Given the description of an element on the screen output the (x, y) to click on. 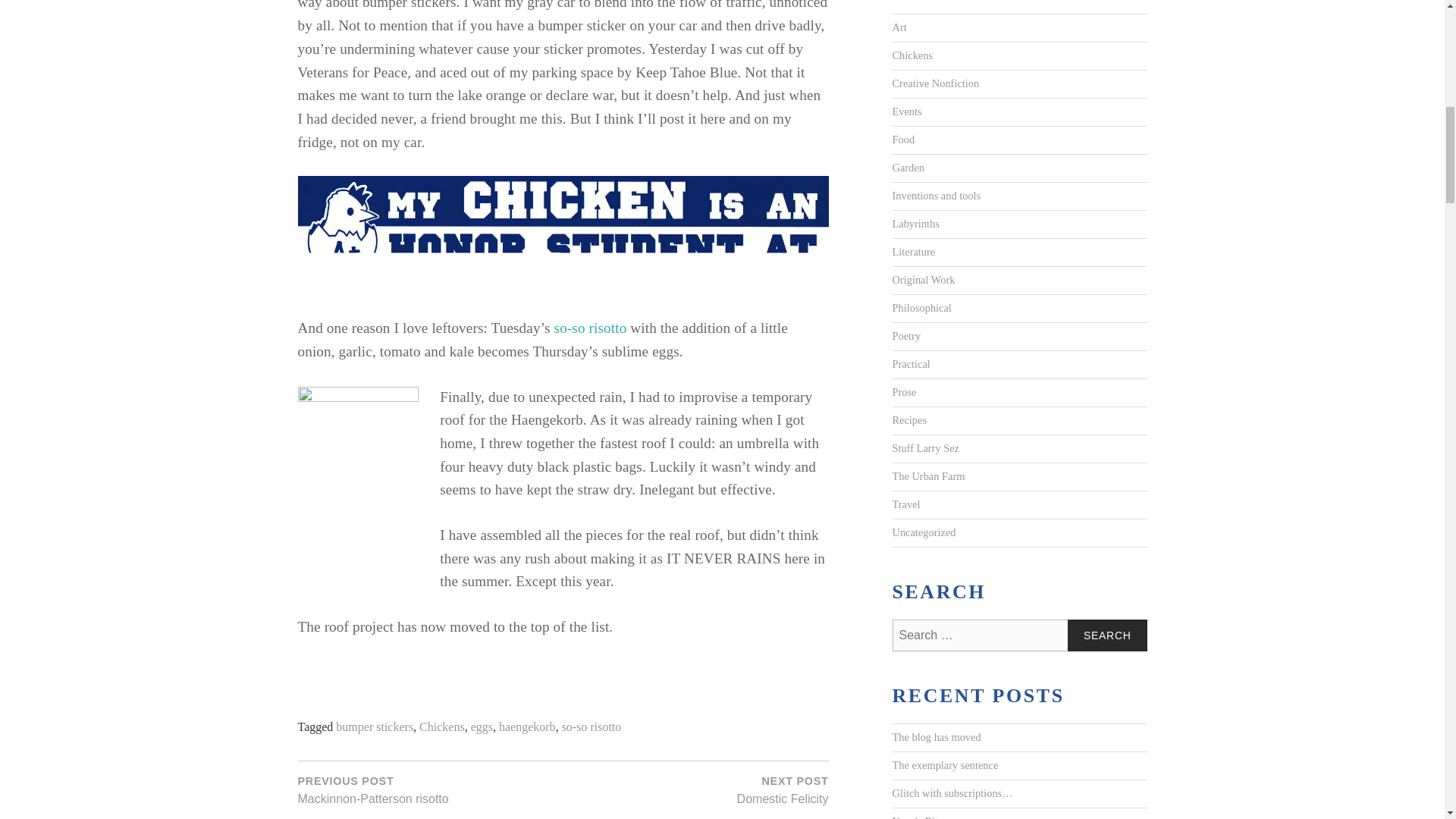
Inventions and tools (935, 196)
Food (902, 140)
bumper stickers (374, 727)
Art (898, 28)
Philosophical (920, 308)
so-so risotto (591, 727)
Chickens (441, 727)
Events (906, 111)
Poetry (905, 336)
Labyrinths (915, 223)
Optimized-Chicken (562, 246)
Creative Nonfiction (934, 83)
eggs (481, 727)
Original Work (923, 280)
Search (1107, 635)
